Given the description of an element on the screen output the (x, y) to click on. 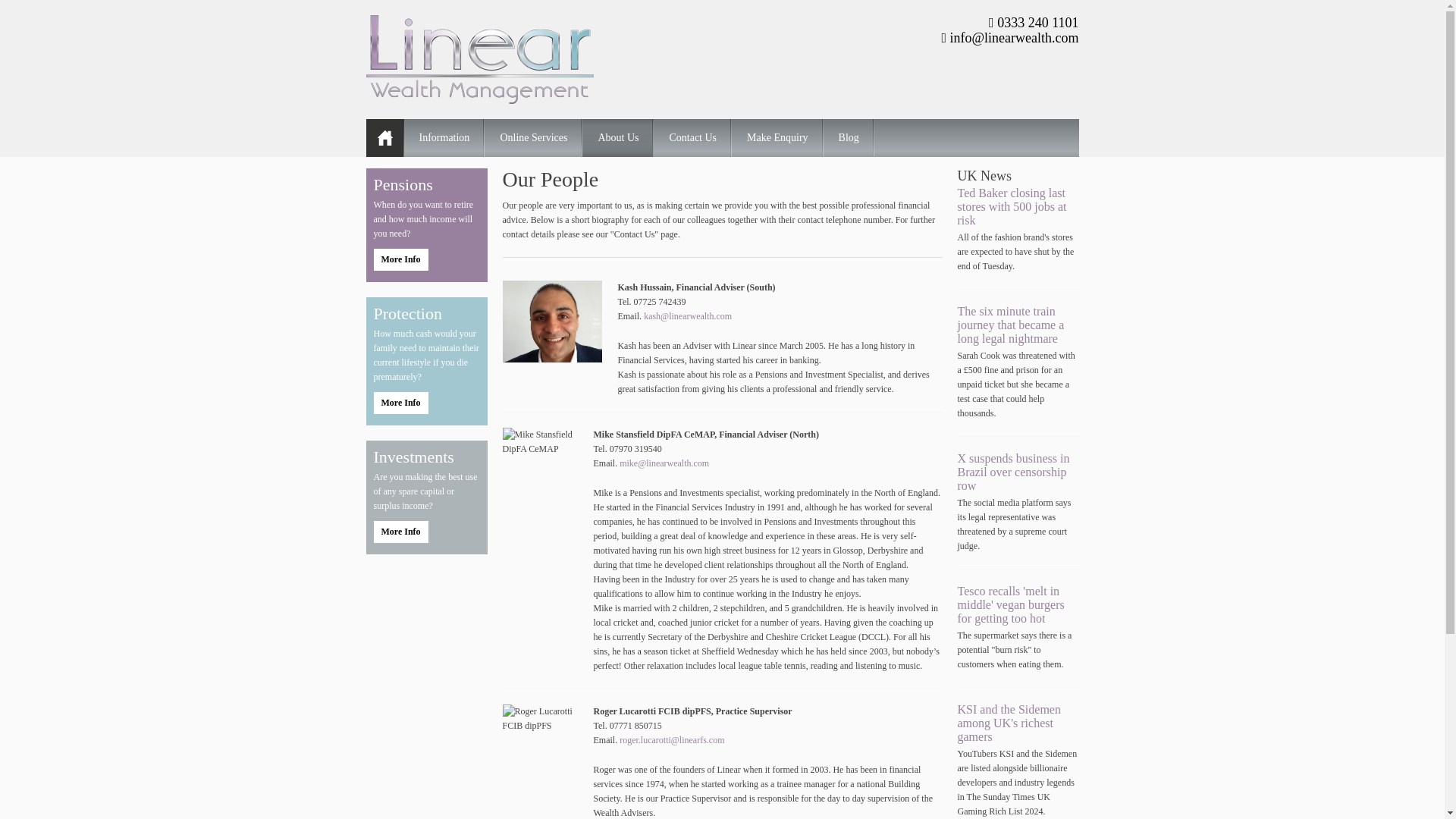
More Info (400, 531)
Investments (425, 456)
Protection (425, 313)
Contact Us (692, 137)
Blog (849, 137)
X suspends business in Brazil over censorship row (1012, 472)
More Info (400, 403)
Information (443, 137)
